Given the description of an element on the screen output the (x, y) to click on. 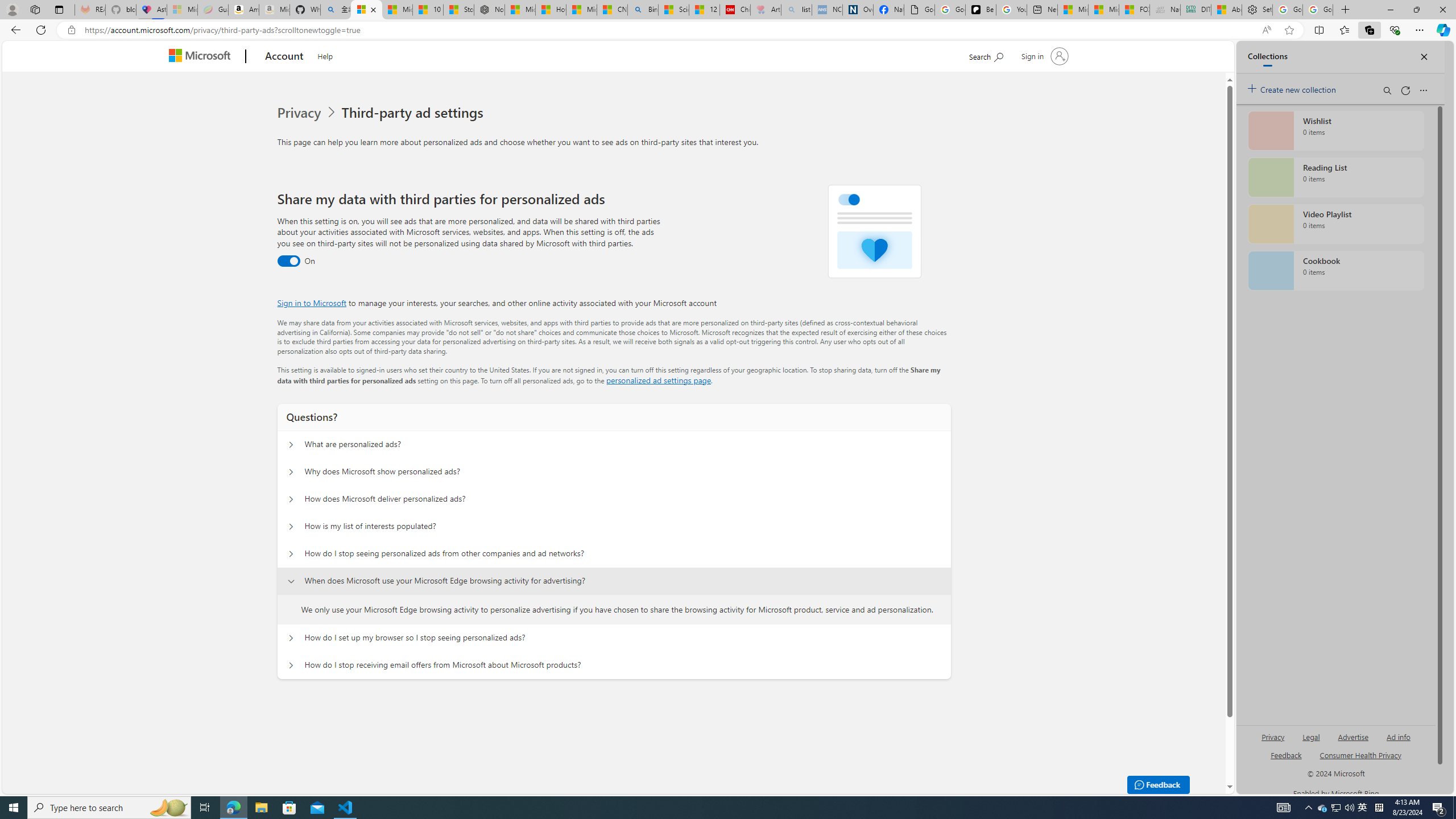
personalized ad settings page (658, 379)
Questions? How is my list of interests populated? (290, 526)
FOX News - MSN (1133, 9)
AutomationID: genId96 (1285, 759)
Sign in to your account (1043, 55)
Questions? Why does Microsoft show personalized ads? (290, 472)
AutomationID: sb_feedback (1286, 754)
